Given the description of an element on the screen output the (x, y) to click on. 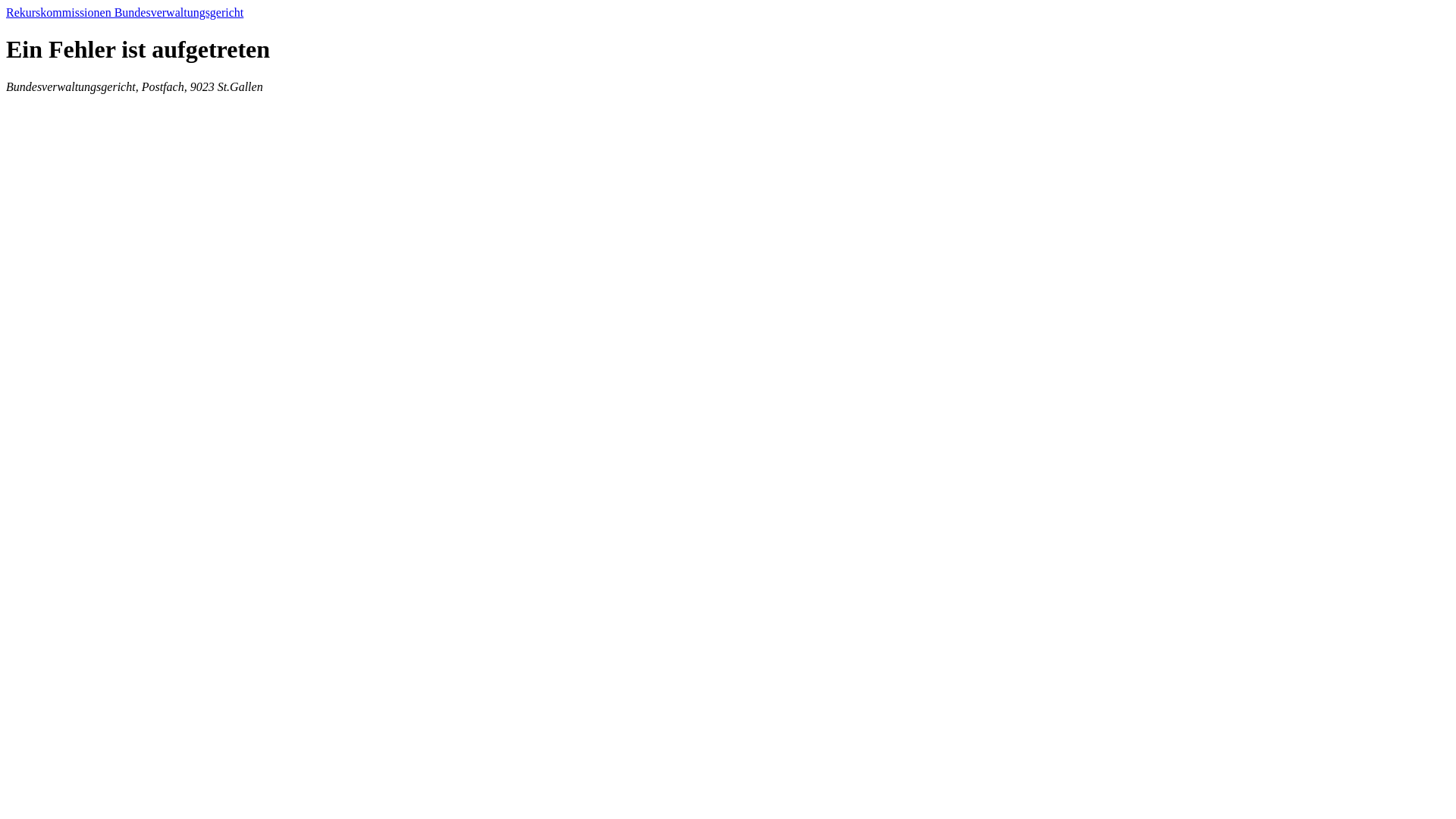
Rekurskommissionen Bundesverwaltungsgericht Element type: text (124, 12)
